Given the description of an element on the screen output the (x, y) to click on. 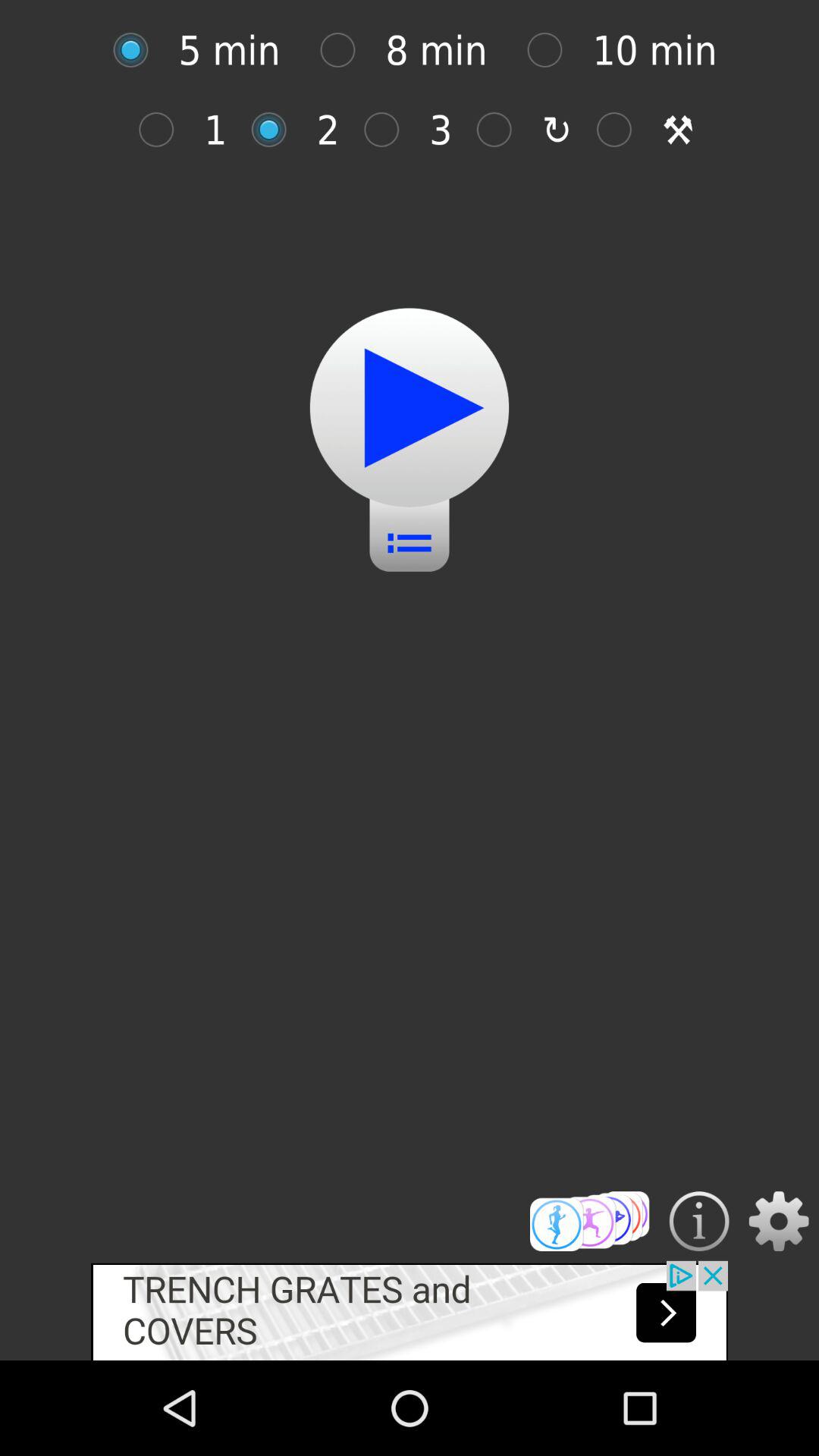
instructions (699, 1221)
